Given the description of an element on the screen output the (x, y) to click on. 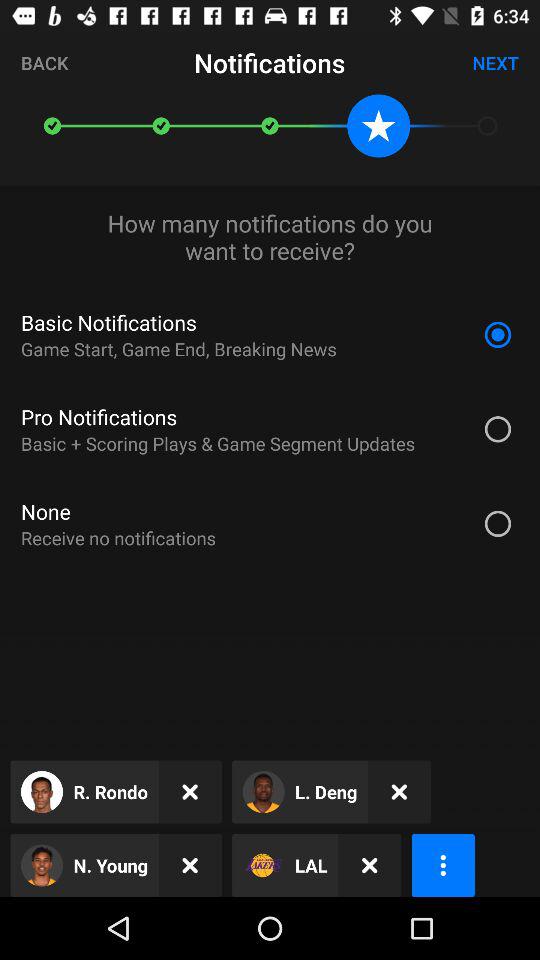
launch icon below the l. deng (369, 864)
